Given the description of an element on the screen output the (x, y) to click on. 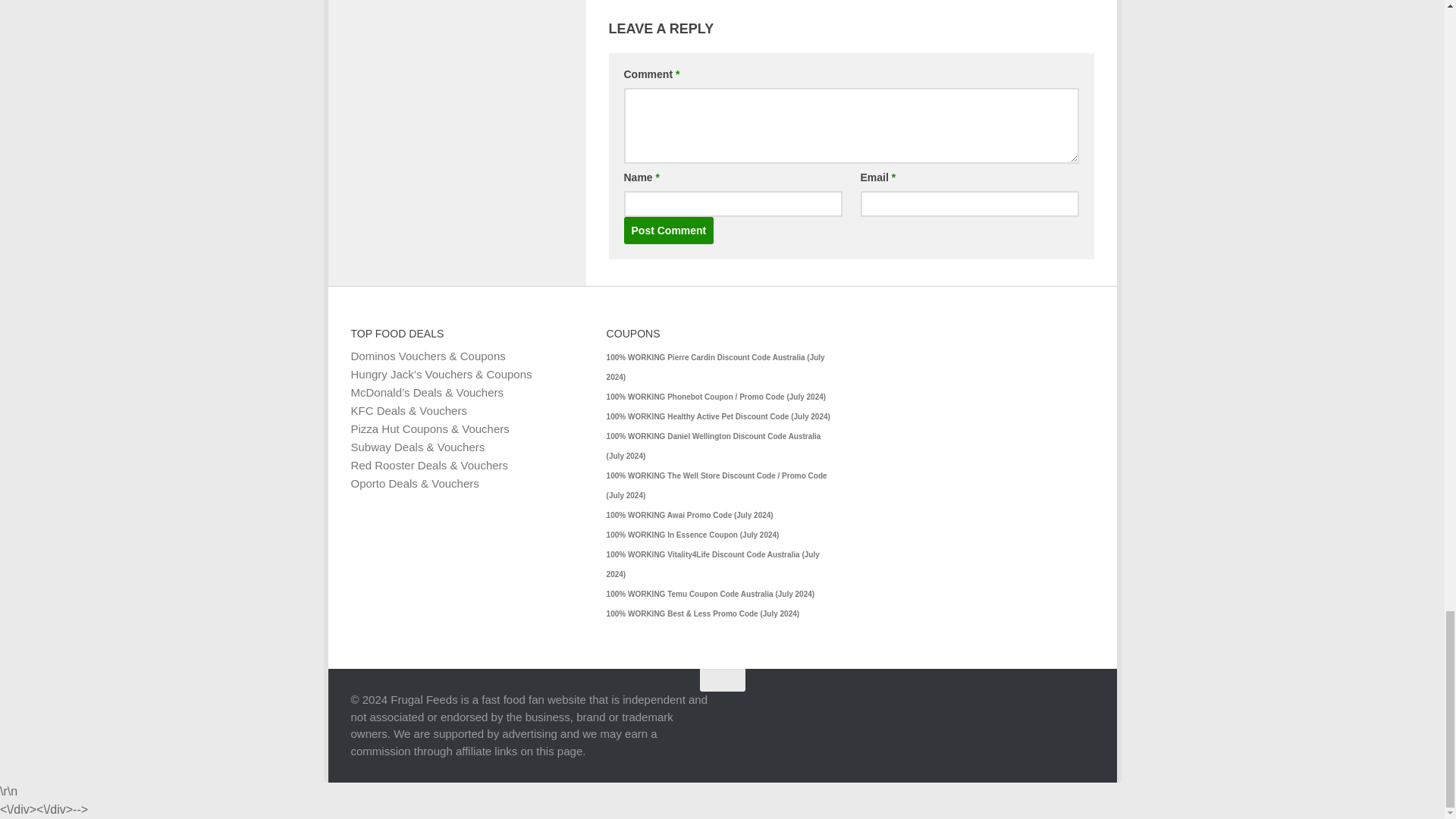
Post Comment (668, 230)
